Given the description of an element on the screen output the (x, y) to click on. 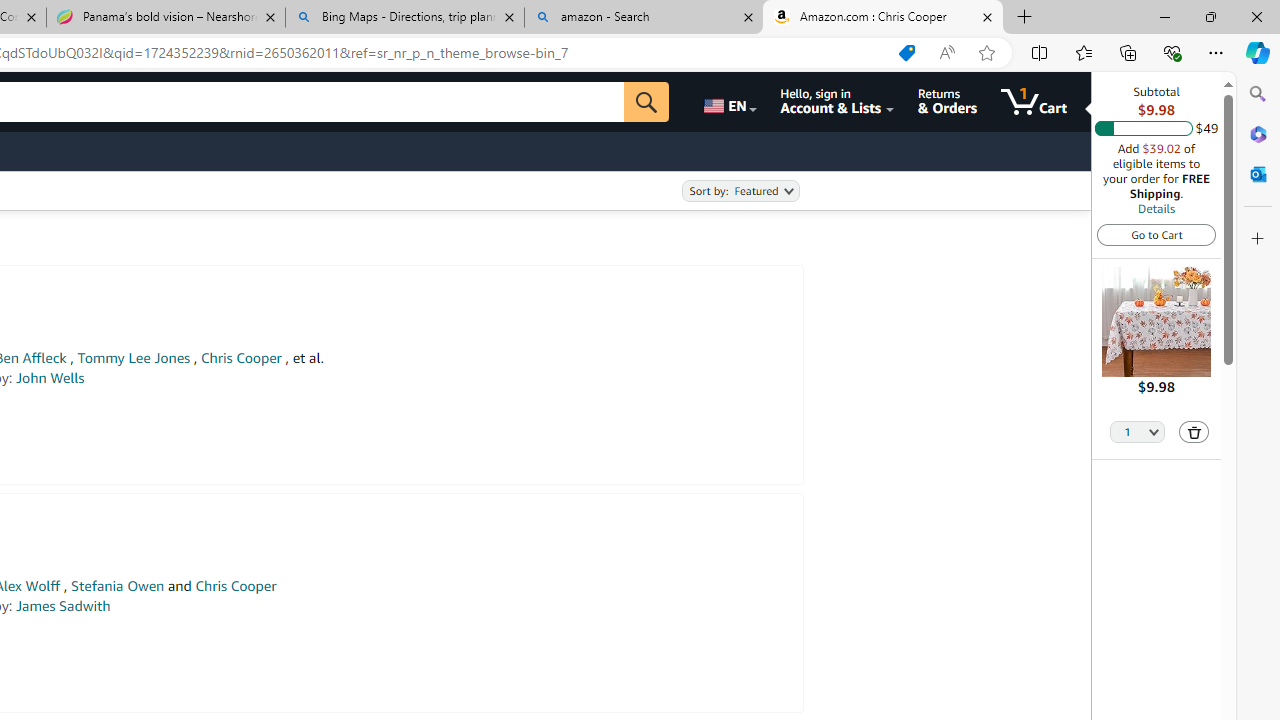
Details (1156, 208)
Chris Cooper (235, 586)
Amazon.com : Chris Cooper (883, 17)
Tommy Lee Jones (133, 358)
1 item in cart (1034, 101)
